Given the description of an element on the screen output the (x, y) to click on. 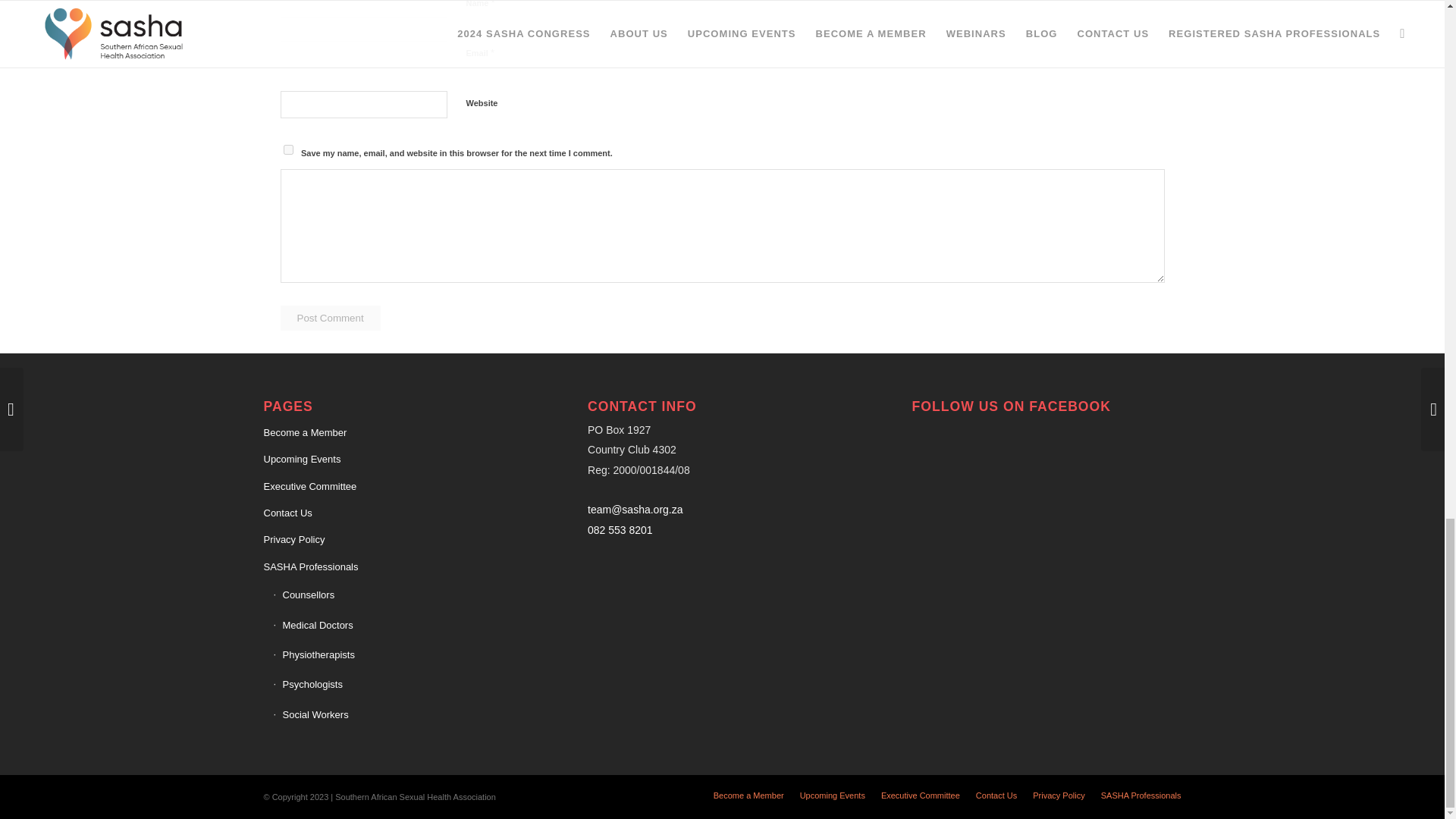
Post Comment (330, 317)
yes (288, 149)
Upcoming Events (397, 459)
Executive Committee (397, 487)
Contact Us (397, 513)
Post Comment (330, 317)
Become a Member (397, 433)
